Given the description of an element on the screen output the (x, y) to click on. 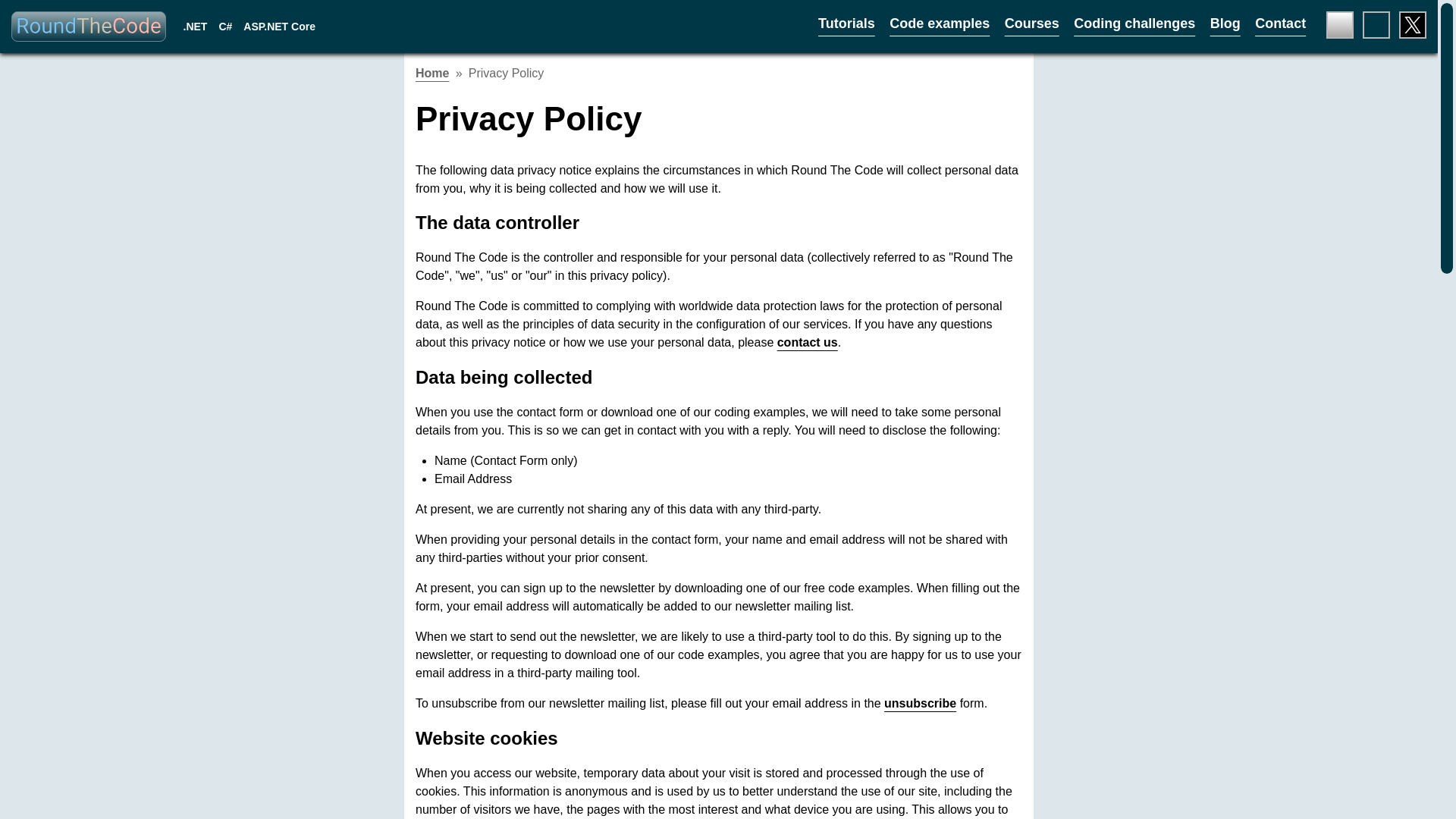
Home (431, 72)
Contact (1280, 24)
Blog (1224, 23)
Courses (1031, 23)
X (1412, 23)
Round The Code (88, 28)
LinkedIn (1376, 23)
Code examples (939, 23)
Coding challenges (1134, 23)
contact us (807, 341)
